Given the description of an element on the screen output the (x, y) to click on. 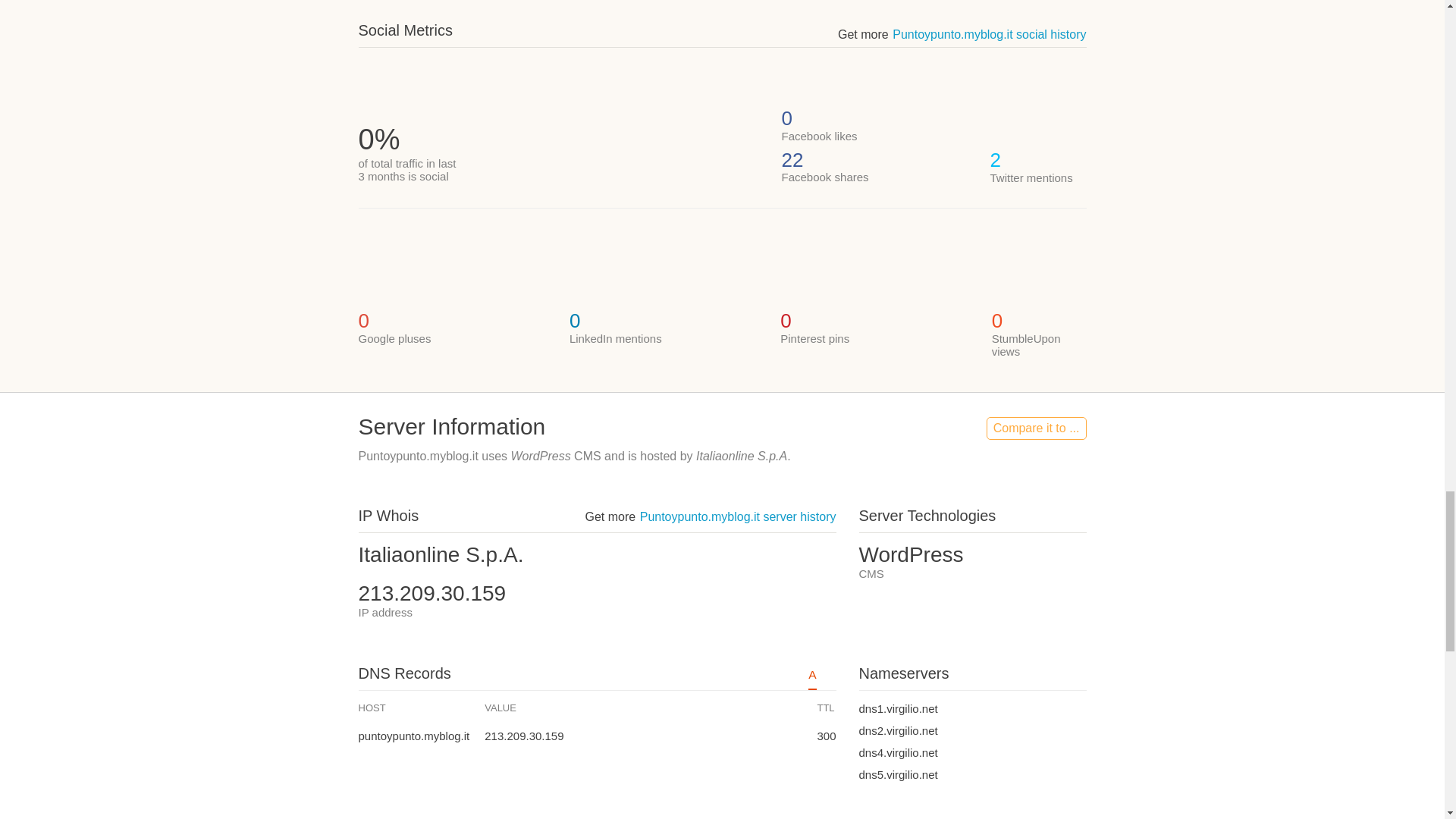
A (811, 679)
Puntoypunto.myblog.it server history (737, 516)
Puntoypunto.myblog.it social history (989, 33)
Compare it to ... (1036, 427)
